Given the description of an element on the screen output the (x, y) to click on. 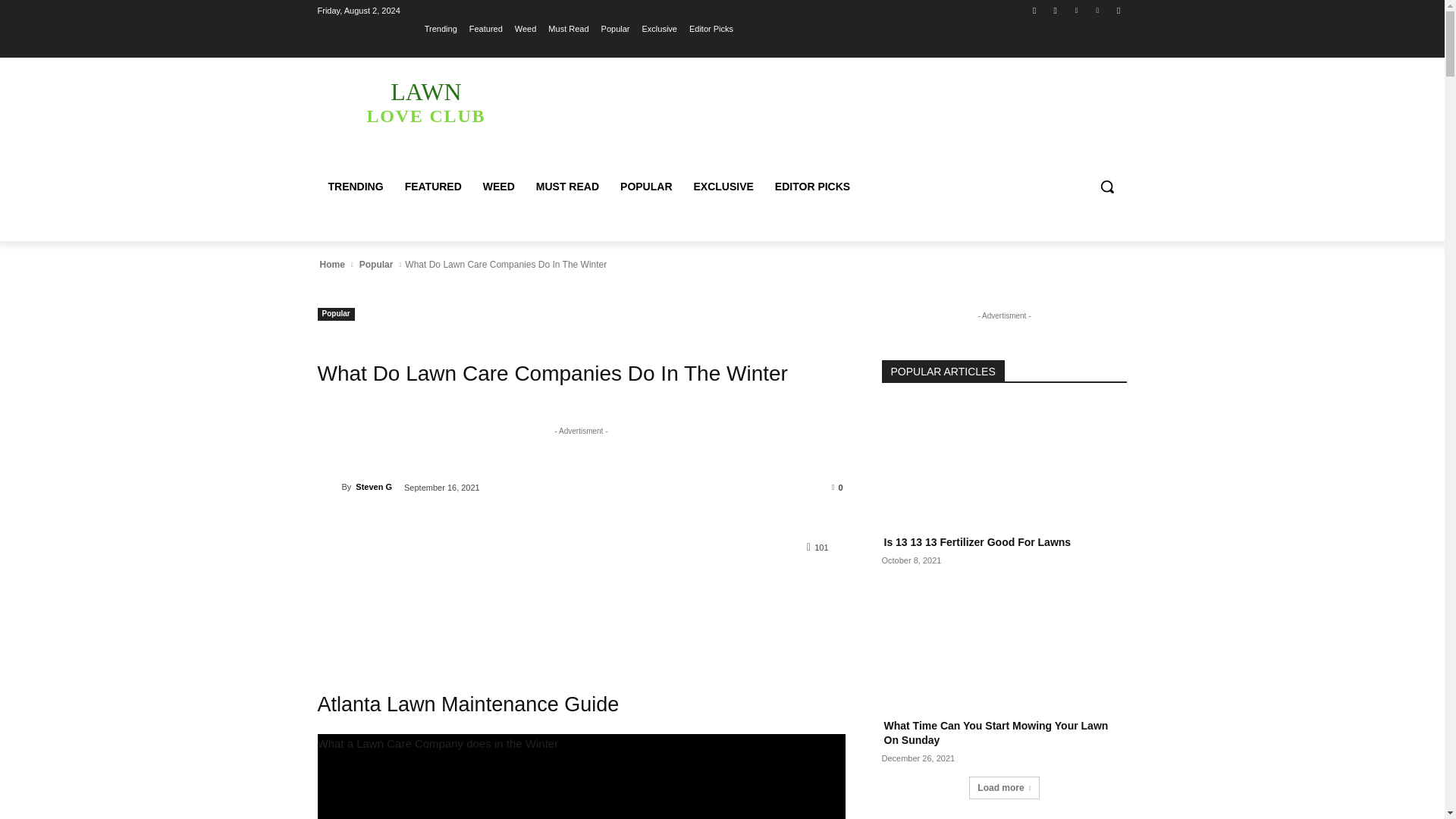
View all posts in Popular (376, 264)
Youtube (1117, 9)
MUST READ (567, 186)
Vimeo (1097, 9)
Exclusive (425, 101)
Featured (659, 28)
FEATURED (485, 28)
Weed (432, 186)
Twitter (526, 28)
Must Read (1075, 9)
TRENDING (568, 28)
Instagram (355, 186)
Editor Picks (1055, 9)
WEED (710, 28)
